Given the description of an element on the screen output the (x, y) to click on. 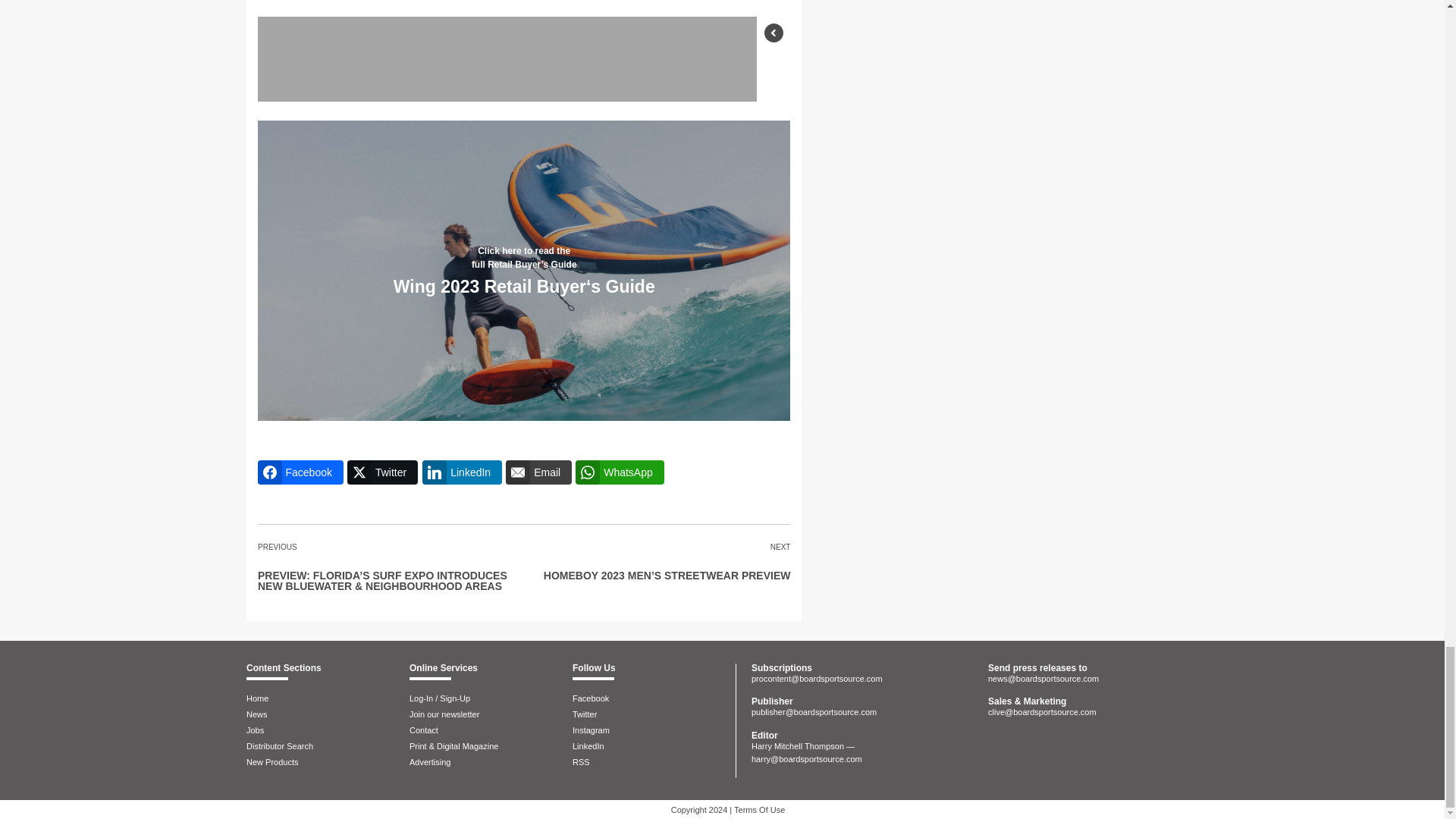
Share on Facebook (300, 472)
Share on LinkedIn (462, 472)
Boardsport SOURCE (1054, 750)
Share on Email (538, 472)
Share on WhatsApp (619, 472)
Share on Twitter (382, 472)
Facebook (300, 472)
Twitter (382, 472)
